Given the description of an element on the screen output the (x, y) to click on. 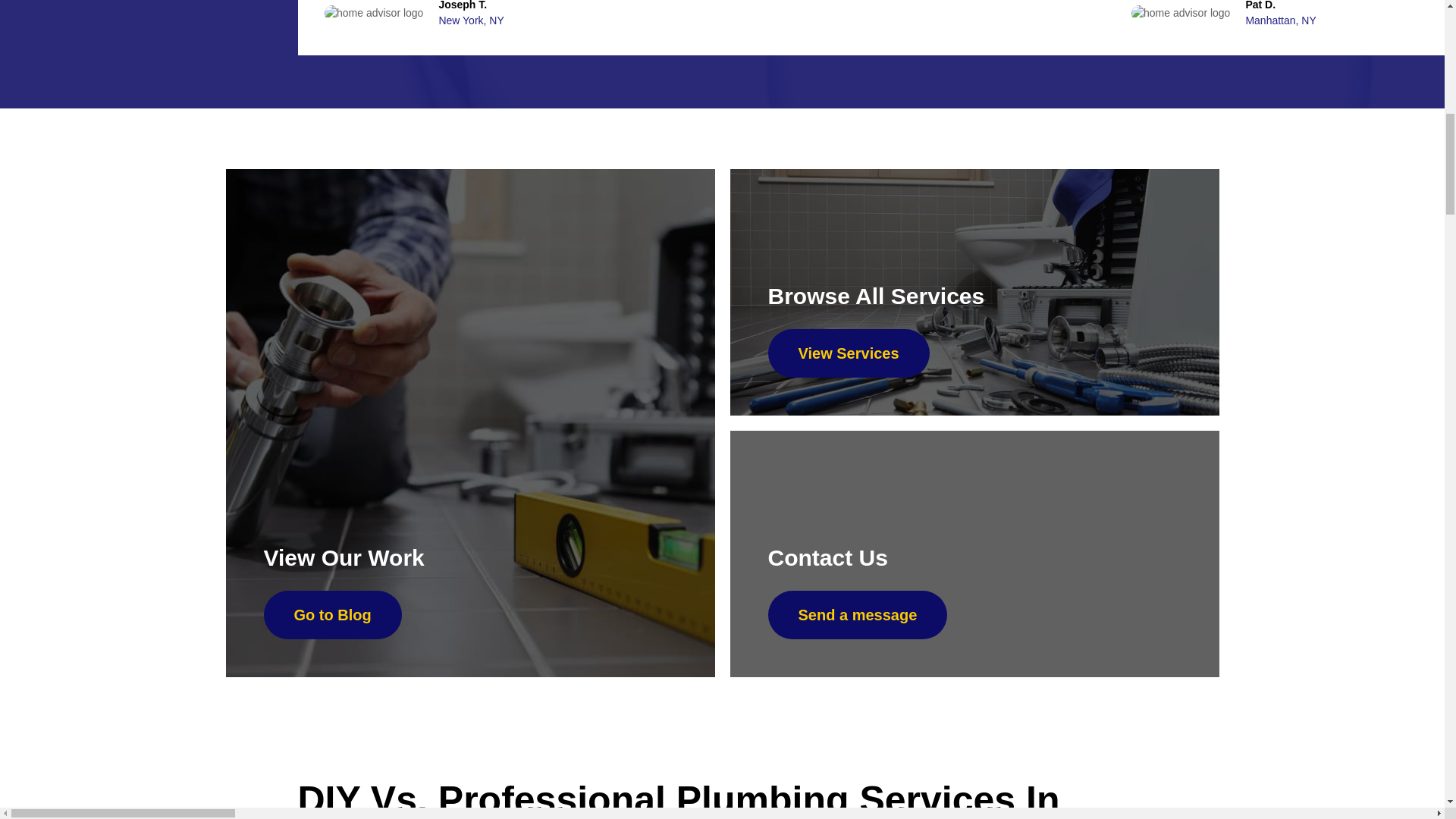
Send a message (857, 614)
View Services (847, 353)
Go to Blog (332, 614)
